Given the description of an element on the screen output the (x, y) to click on. 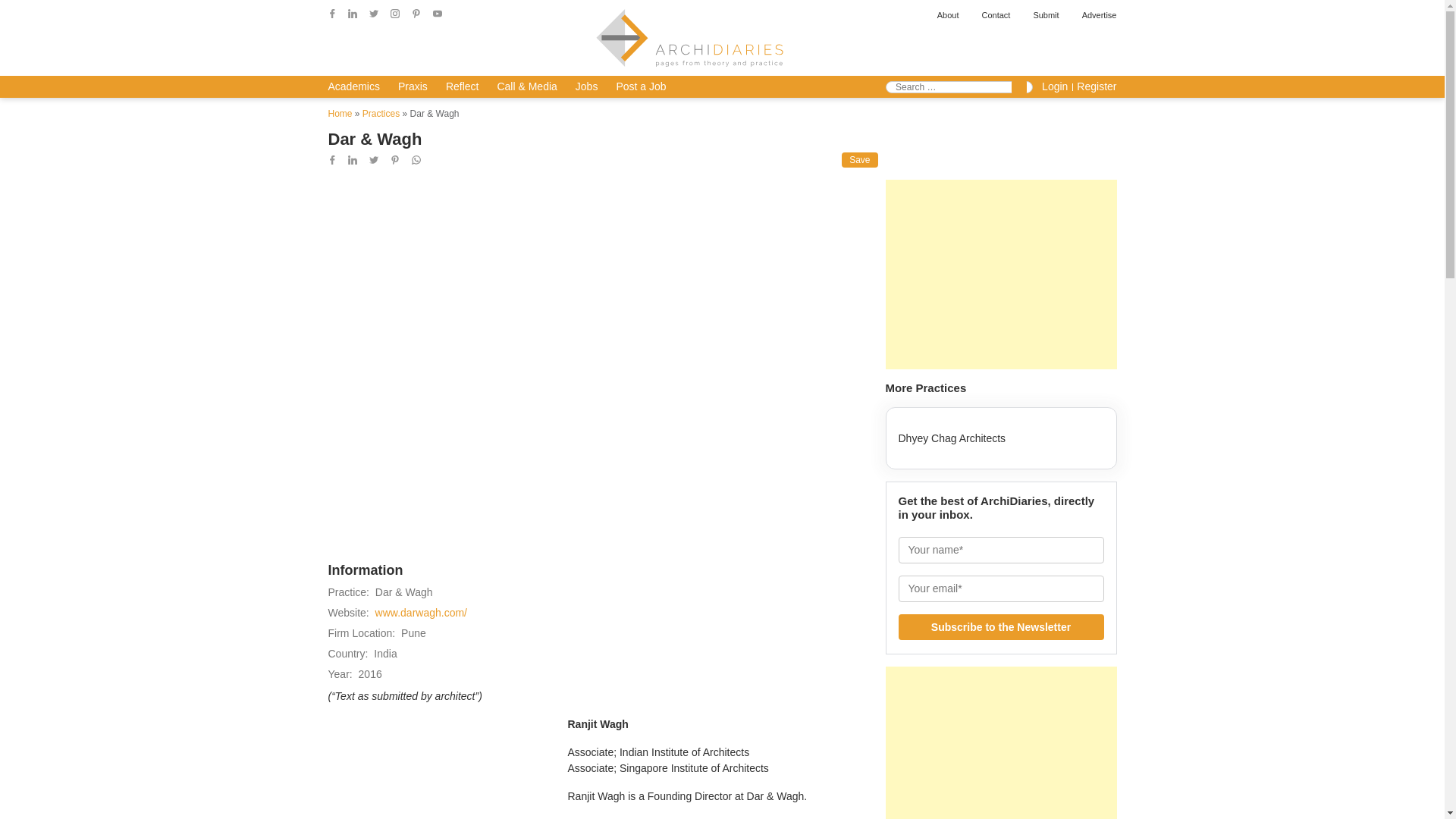
Post a Job (640, 86)
Academics (352, 86)
Search (1018, 86)
WhatsApp (416, 159)
Facebook (331, 13)
Pinterest (416, 13)
Home (339, 113)
Contact (995, 15)
Twitter (373, 159)
Subscribe to the Newsletter (1000, 626)
